Given the description of an element on the screen output the (x, y) to click on. 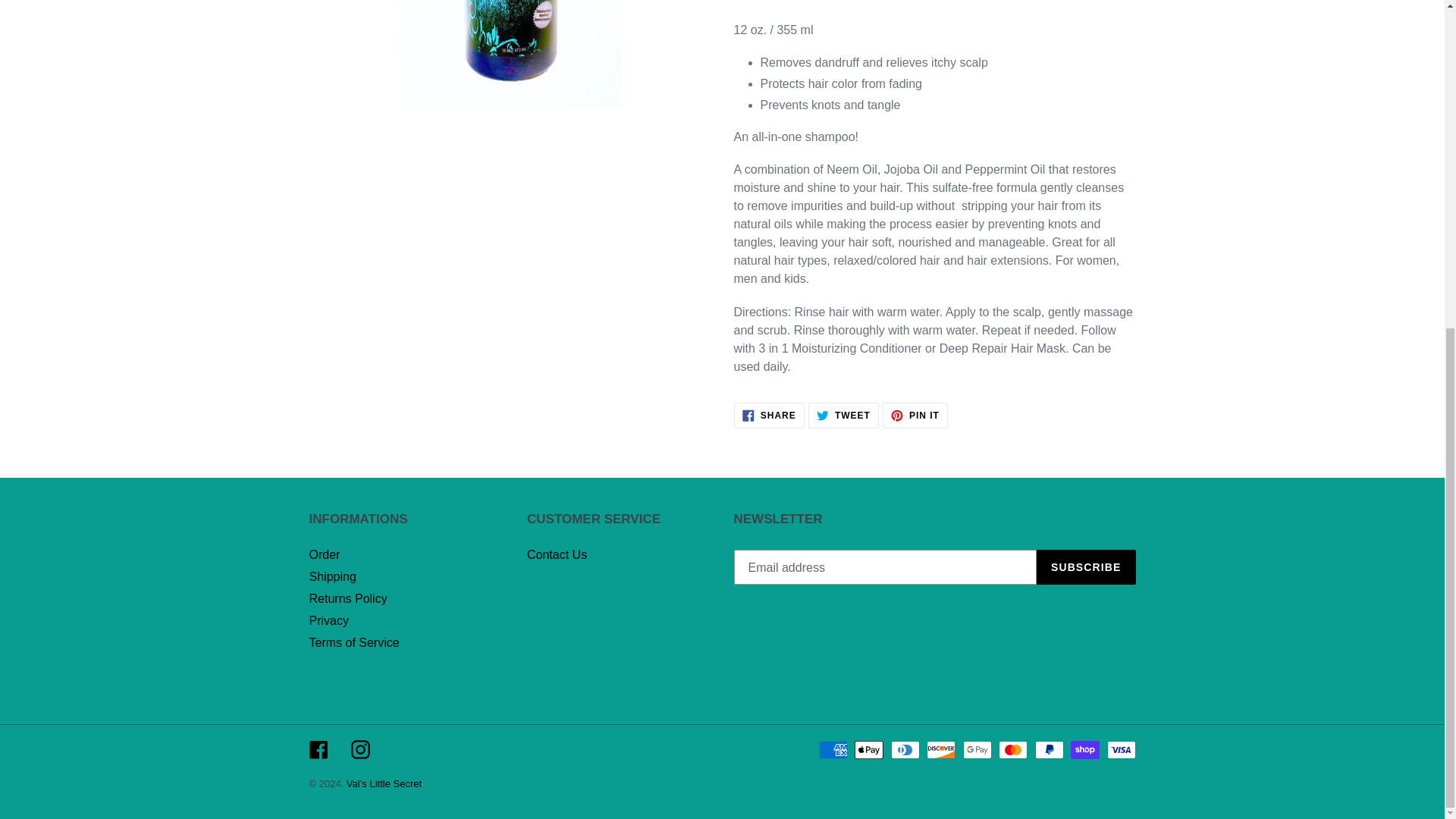
Facebook (318, 749)
SUBSCRIBE (1085, 566)
Shipping (332, 576)
Contact Us (556, 554)
Instagram (359, 749)
Returns Policy (914, 415)
Order (347, 598)
Privacy (324, 554)
